Given the description of an element on the screen output the (x, y) to click on. 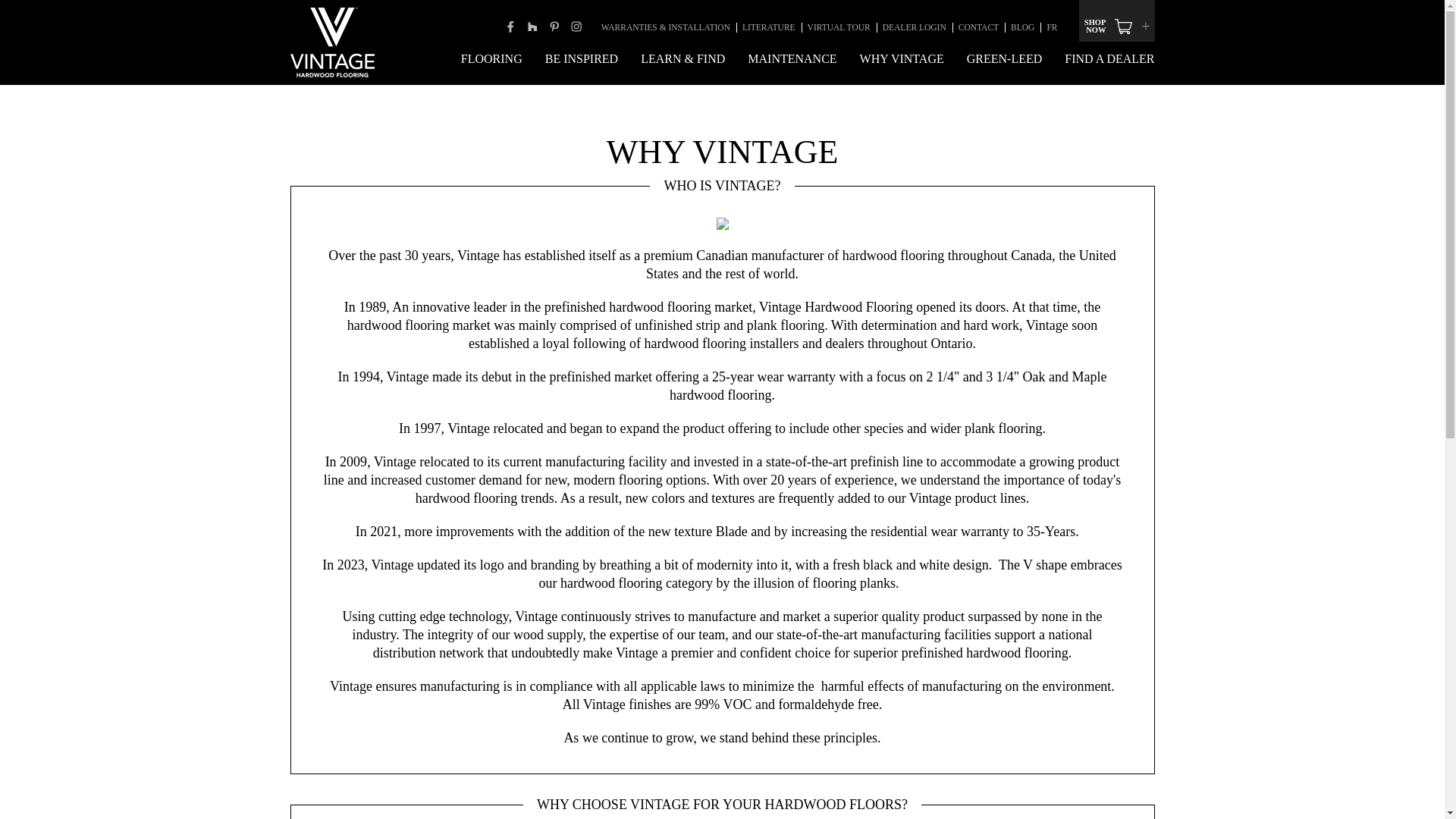
GREEN-LEED (1004, 59)
BE INSPIRED (581, 59)
Vintage Hardwood Flooring, and engineered flooring (331, 42)
LITERATURE (769, 27)
HOUZZ (531, 26)
BLOG (1022, 27)
WHY VINTAGE (901, 59)
MAINTENANCE (791, 59)
VIRTUAL TOUR (839, 27)
PINTEREST (553, 26)
FIND A DEALER (1103, 59)
INSTAGRAM (576, 26)
FACEBOOK (509, 26)
DEALER LOGIN (914, 27)
FLOORING (491, 59)
